Given the description of an element on the screen output the (x, y) to click on. 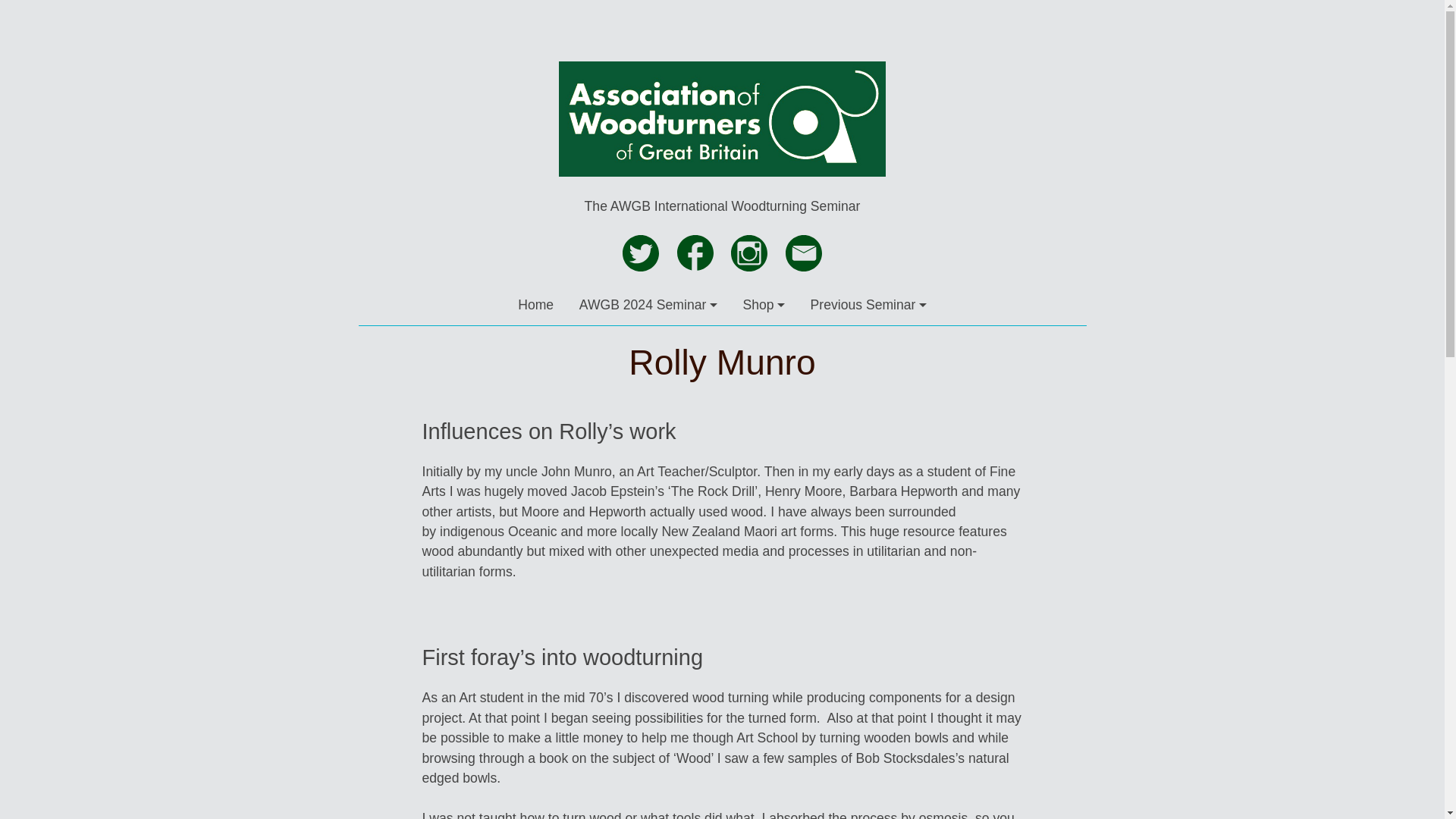
AWGB Woodturning Seminar (722, 186)
Shop (763, 304)
Home (535, 304)
Previous Seminar (868, 304)
AWGB 2024 Seminar (648, 304)
